Given the description of an element on the screen output the (x, y) to click on. 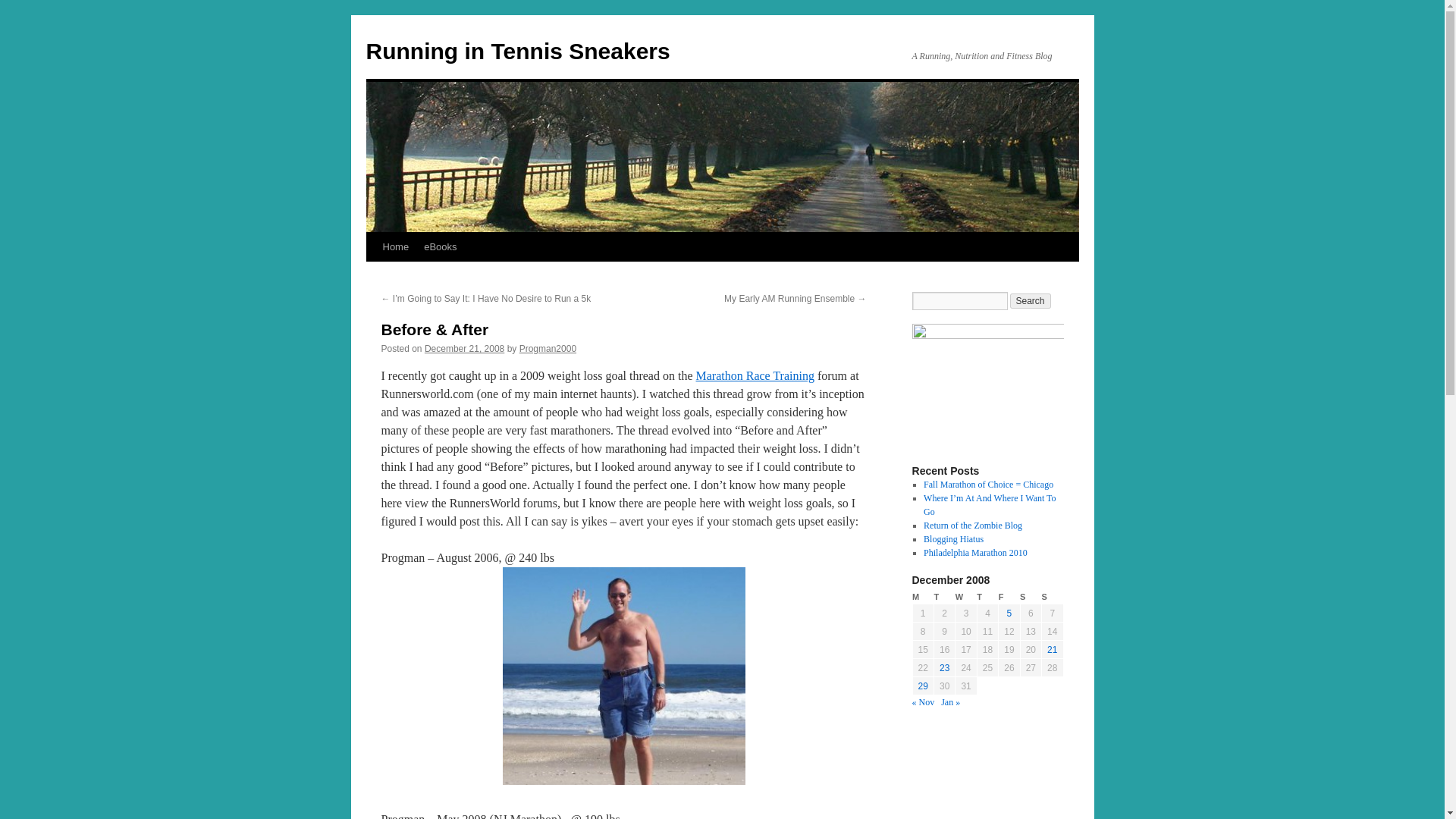
Wednesday (965, 596)
View all posts by Progman2000 (547, 348)
2:35 pm (464, 348)
Monday (922, 596)
Running in Tennis Sneakers (517, 50)
Marathon Race Training (754, 375)
Tuesday (944, 596)
Home (395, 246)
29 (923, 685)
Search (1030, 300)
Blogging Hiatus (953, 538)
Progman2000 (547, 348)
23 (944, 667)
eBooks (440, 246)
Thursday (986, 596)
